Given the description of an element on the screen output the (x, y) to click on. 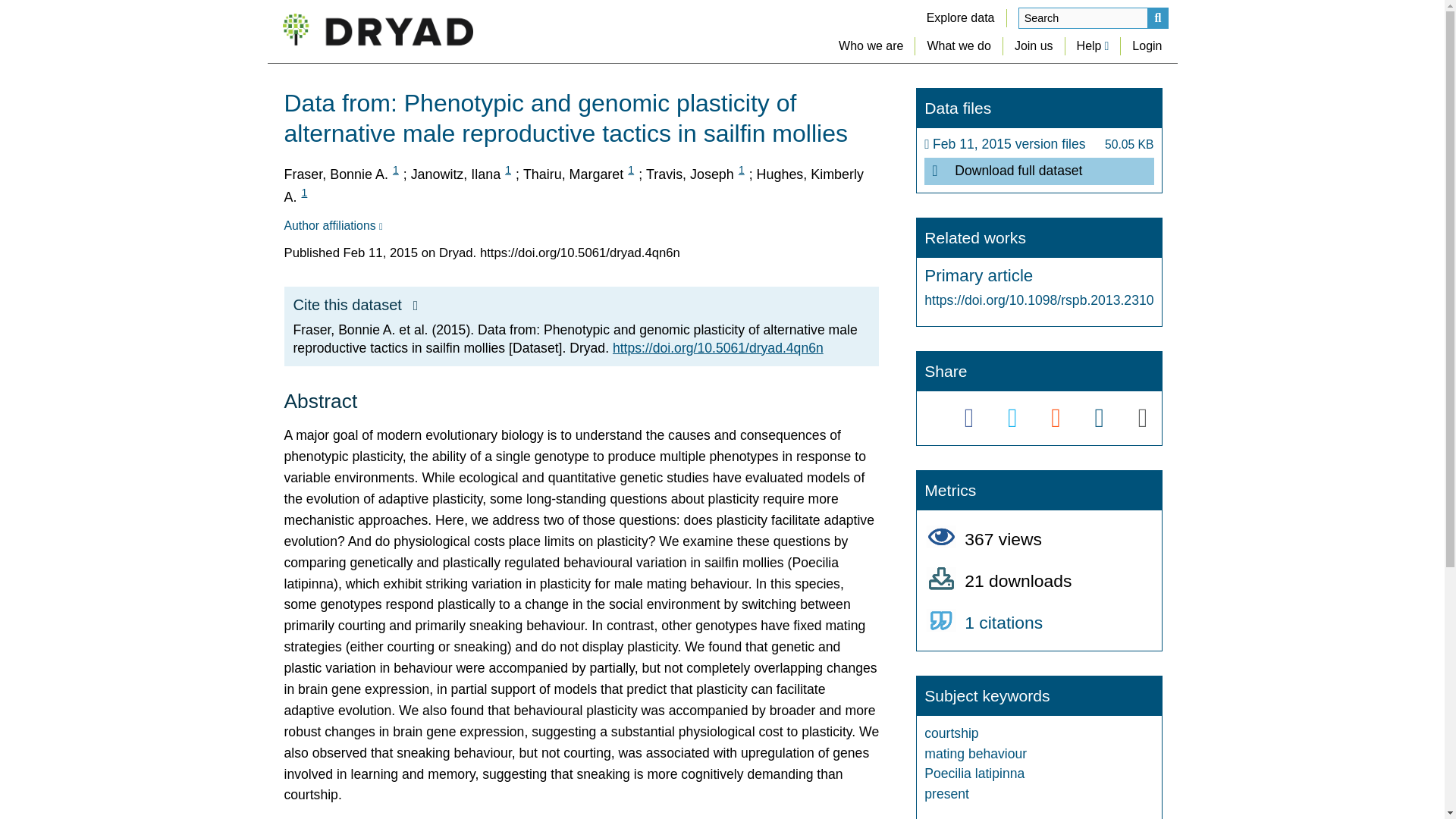
Author affiliations (332, 225)
Who we are (870, 45)
